Given the description of an element on the screen output the (x, y) to click on. 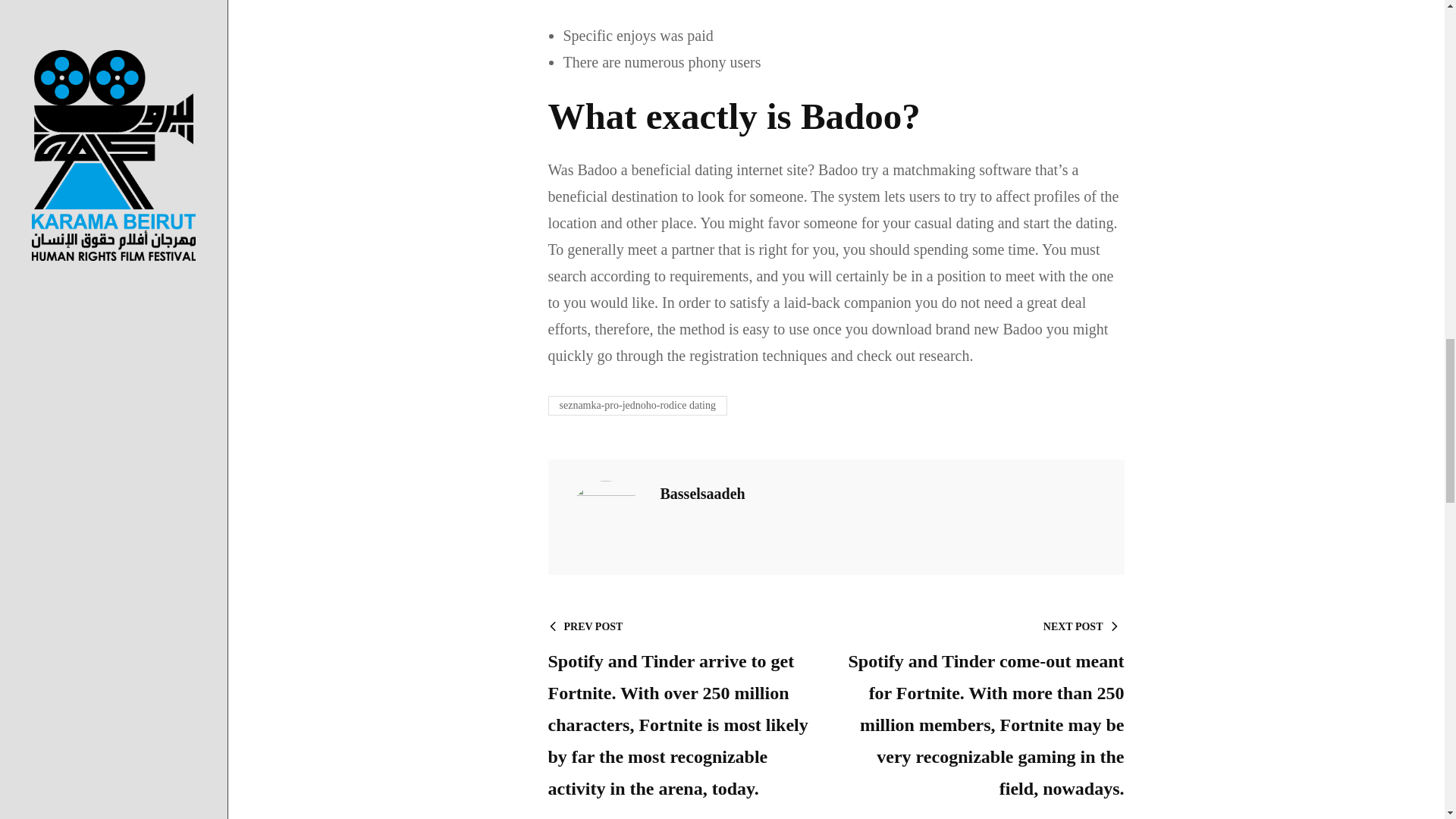
seznamka-pro-jednoho-rodice dating (636, 405)
